Given the description of an element on the screen output the (x, y) to click on. 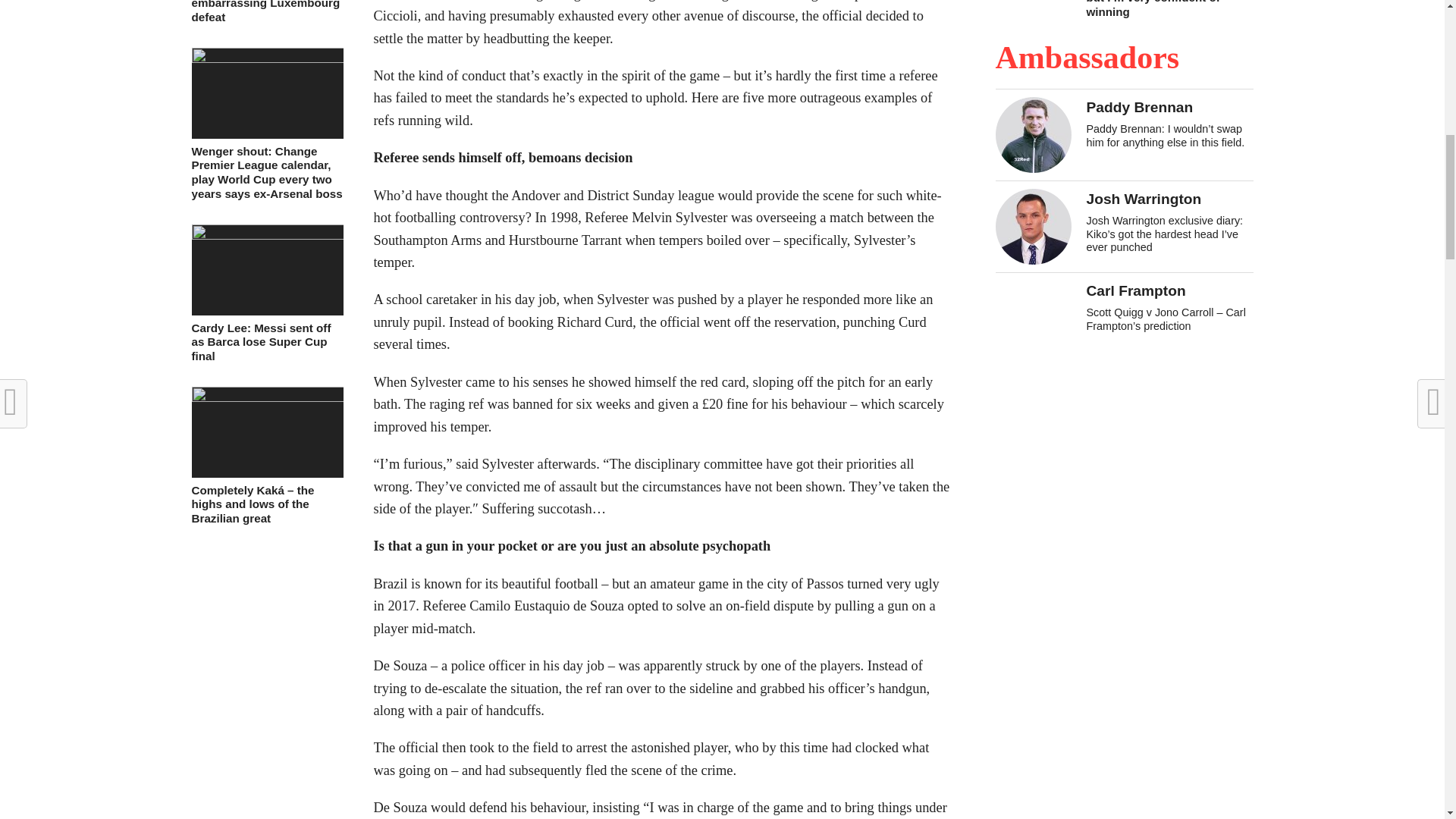
Cardy Lee: Messi sent off as Barca lose Super Cup final (266, 235)
